Given the description of an element on the screen output the (x, y) to click on. 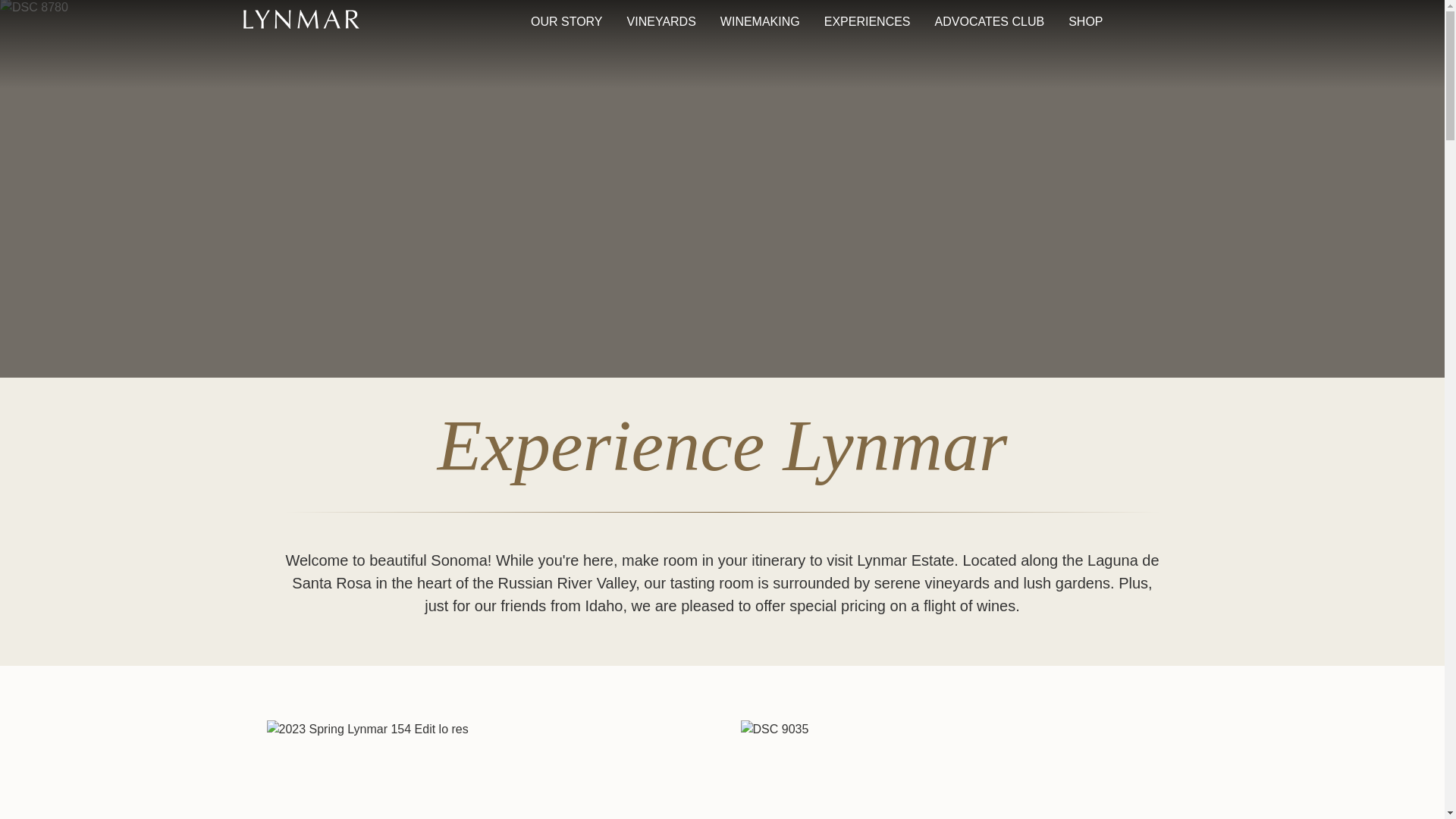
Lynmar Estate (300, 21)
SHOP (1086, 22)
EXPERIENCES (867, 22)
OUR STORY (566, 22)
VINEYARDS (660, 22)
ADVOCATES CLUB (990, 22)
WINEMAKING (759, 22)
